Given the description of an element on the screen output the (x, y) to click on. 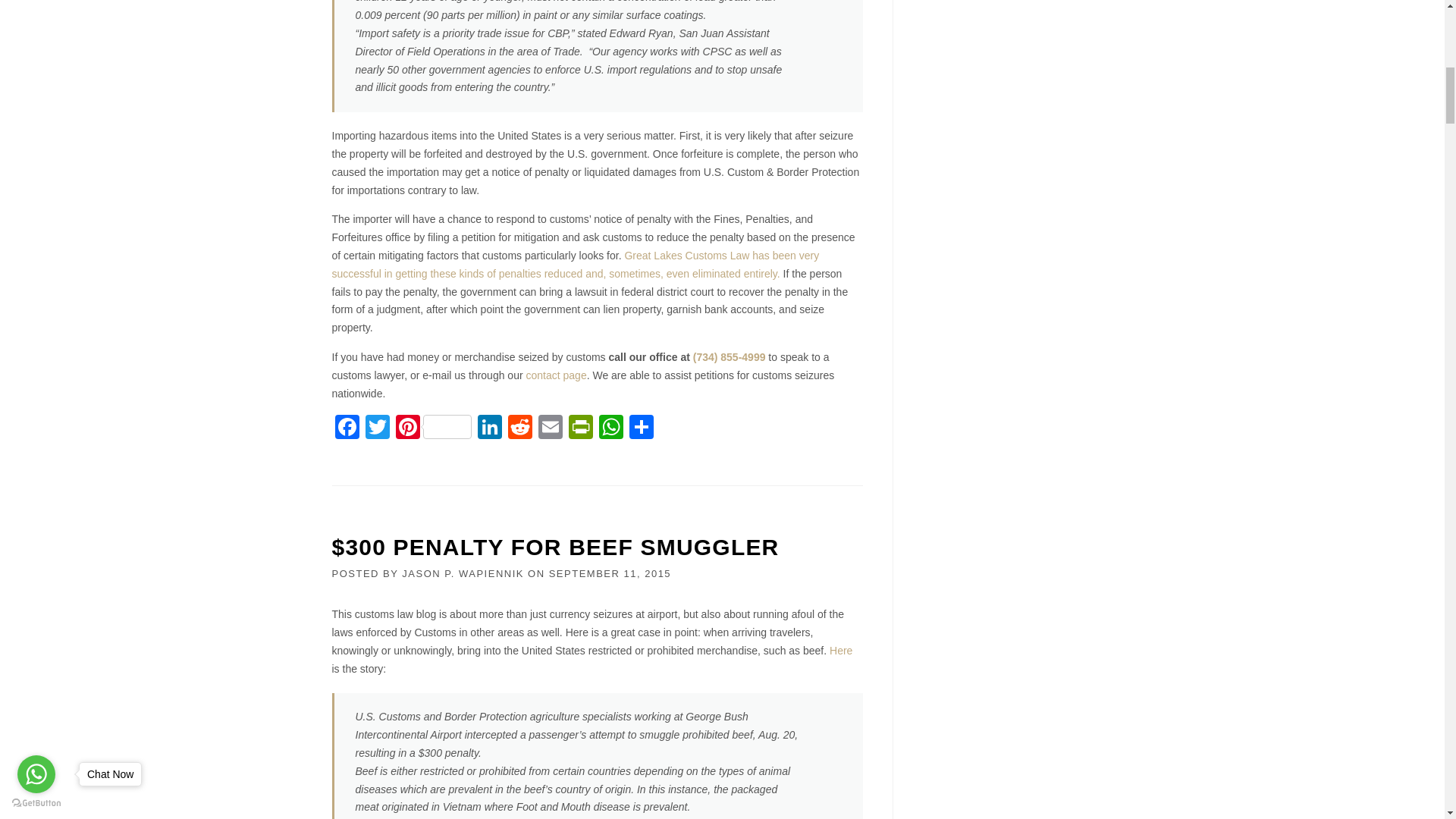
Reddit (520, 428)
Contact (555, 375)
Twitter (377, 428)
Penalty and Liquidated Damages Case Outcomes (575, 264)
Facebook (346, 428)
Pinterest (433, 428)
LinkedIn (489, 428)
